Given the description of an element on the screen output the (x, y) to click on. 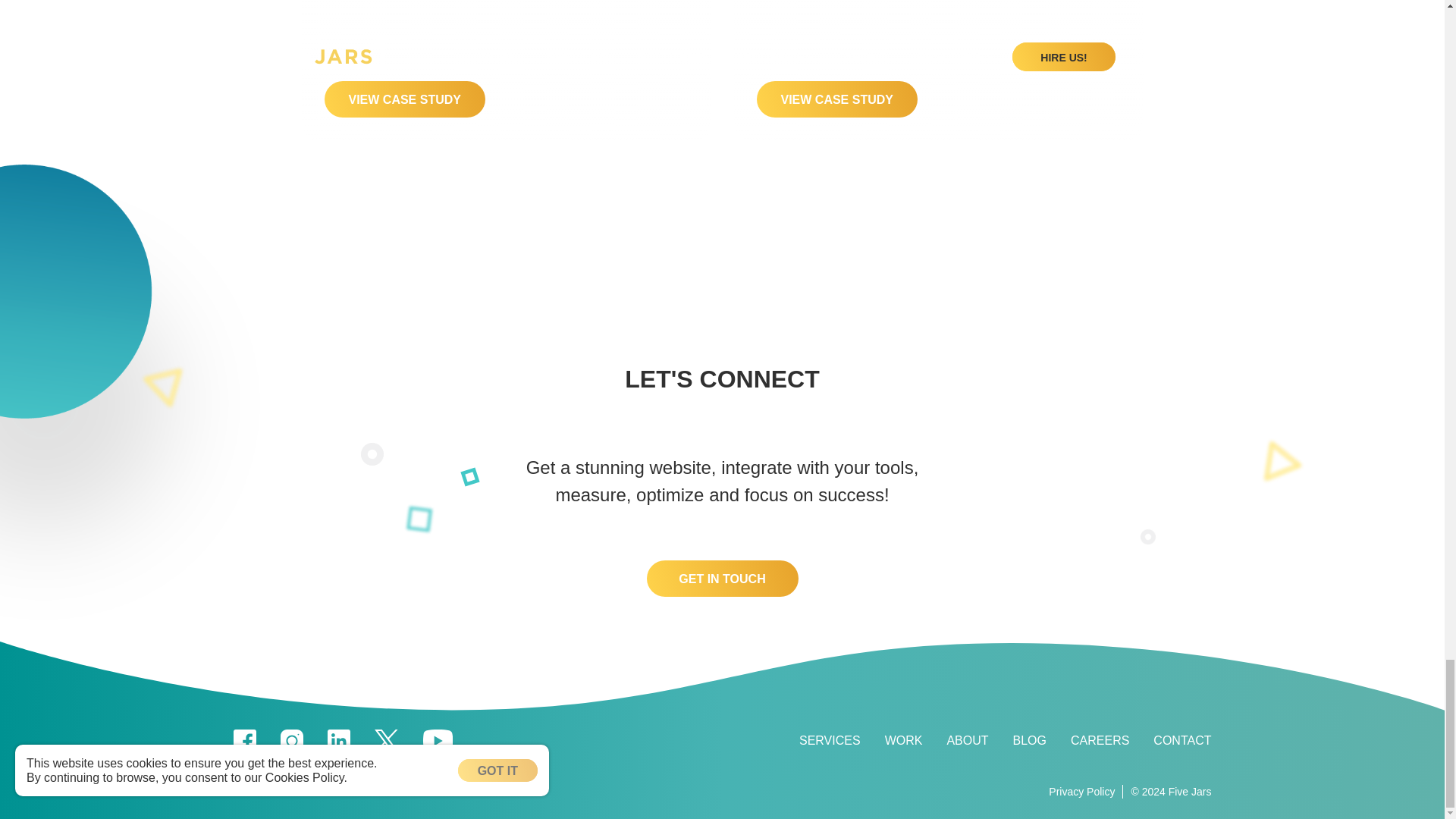
Instagram (291, 740)
Facebook (244, 740)
Web Development, Drupal Development, Digital Signage, Open Y (829, 739)
Linkedin (338, 740)
Work at Five Jars Digital Agency (1099, 739)
Youtube (437, 740)
Twitter (386, 740)
